Given the description of an element on the screen output the (x, y) to click on. 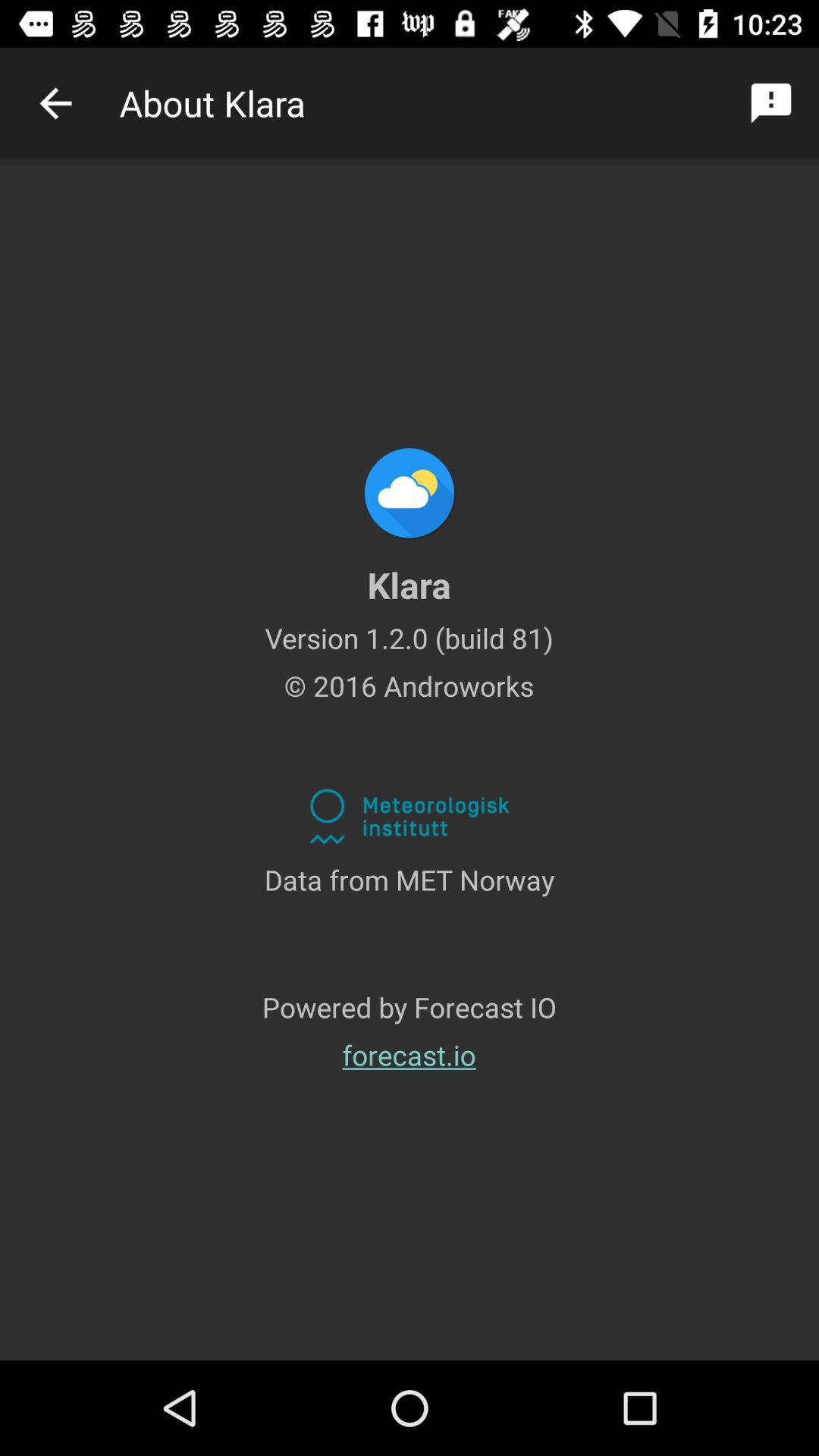
select the item to the right of the about klara item (771, 103)
